Given the description of an element on the screen output the (x, y) to click on. 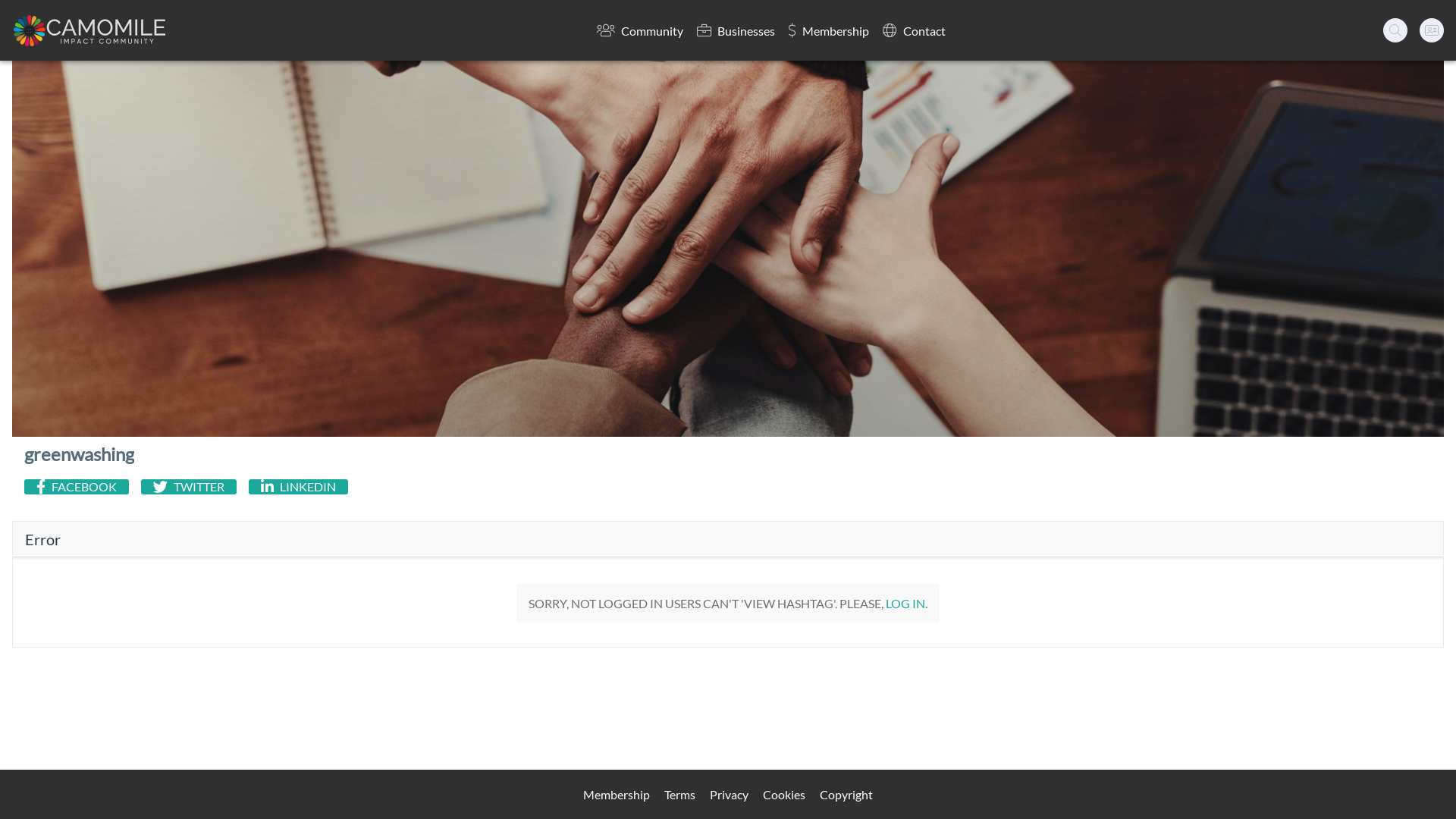
LINKEDIN Element type: text (298, 486)
Businesses Element type: text (735, 30)
Membership Element type: text (616, 794)
Contact Element type: text (913, 30)
Copyright Element type: text (845, 794)
LOG IN Element type: text (905, 603)
Terms Element type: text (679, 794)
FACEBOOK Element type: text (76, 486)
Community Element type: text (639, 30)
Membership Element type: text (828, 30)
Privacy Element type: text (728, 794)
TWITTER Element type: text (188, 486)
Camomile Element type: hover (89, 30)
FACEBOOK
TWITTER
LINKEDIN Element type: text (721, 486)
Cookies Element type: text (783, 794)
